Given the description of an element on the screen output the (x, y) to click on. 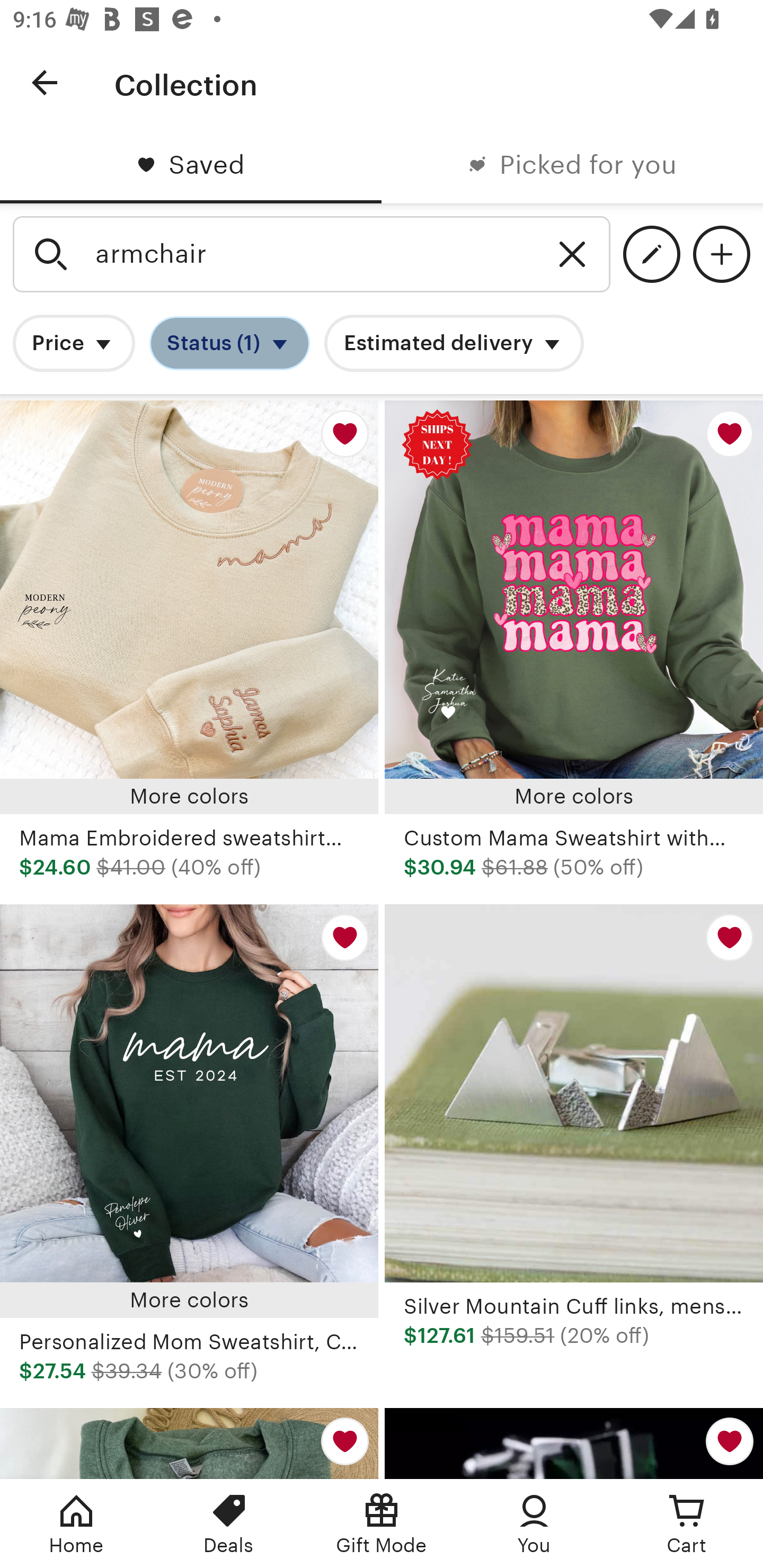
Navigate up (44, 82)
Picked for you, tab 2 of 2 Picked for you (572, 165)
armchair (311, 253)
Clear Search (572, 253)
Edit collection (651, 253)
Create collection (721, 253)
Price (73, 343)
Status (1) (229, 343)
Estimated delivery (453, 343)
Home (76, 1523)
Gift Mode (381, 1523)
You (533, 1523)
Cart (686, 1523)
